Given the description of an element on the screen output the (x, y) to click on. 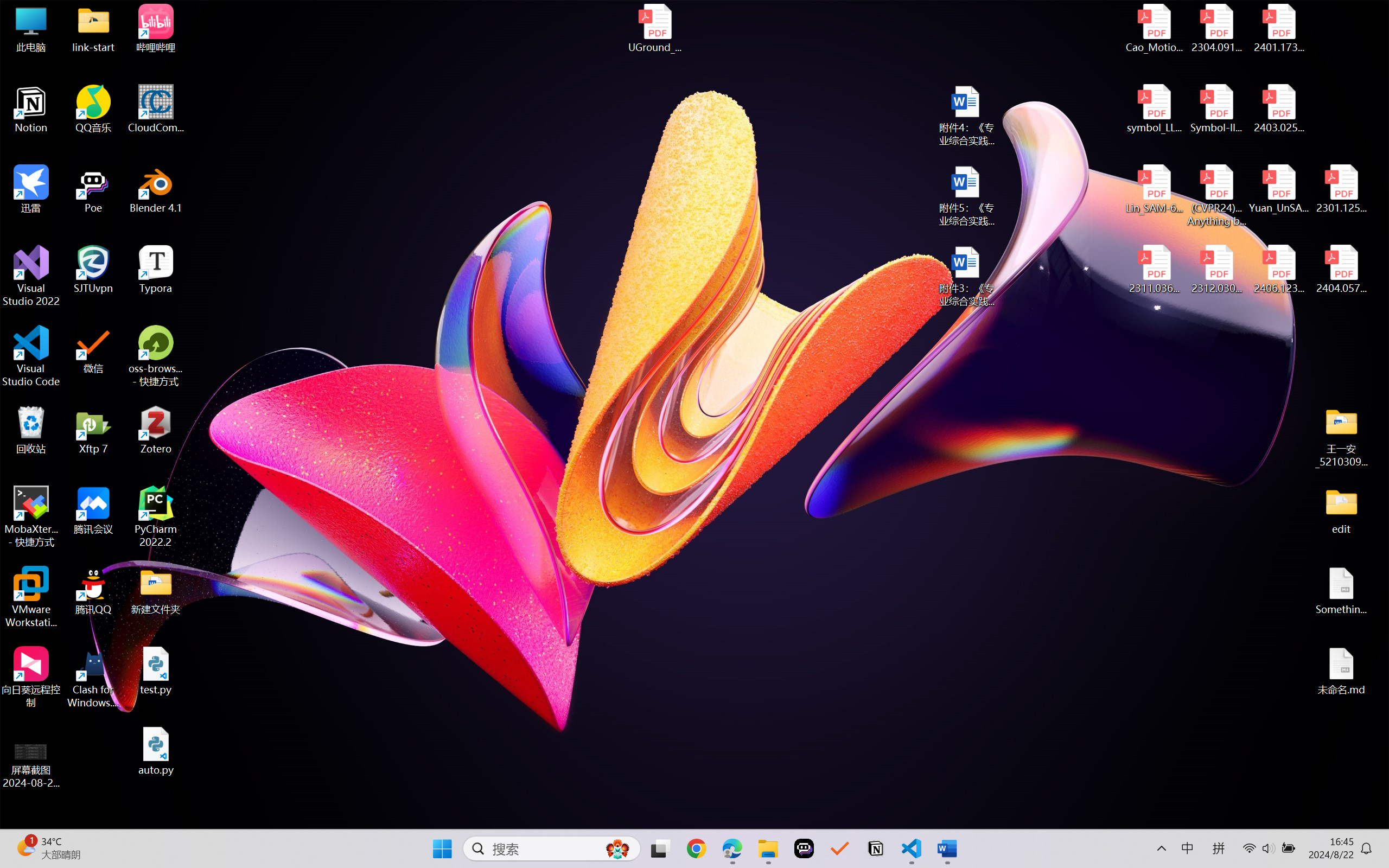
CloudCompare (156, 109)
2304.09121v3.pdf (1216, 28)
Symbol-llm-v2.pdf (1216, 109)
UGround_paper.pdf (654, 28)
Typora (156, 269)
PyCharm 2022.2 (156, 516)
